Given the description of an element on the screen output the (x, y) to click on. 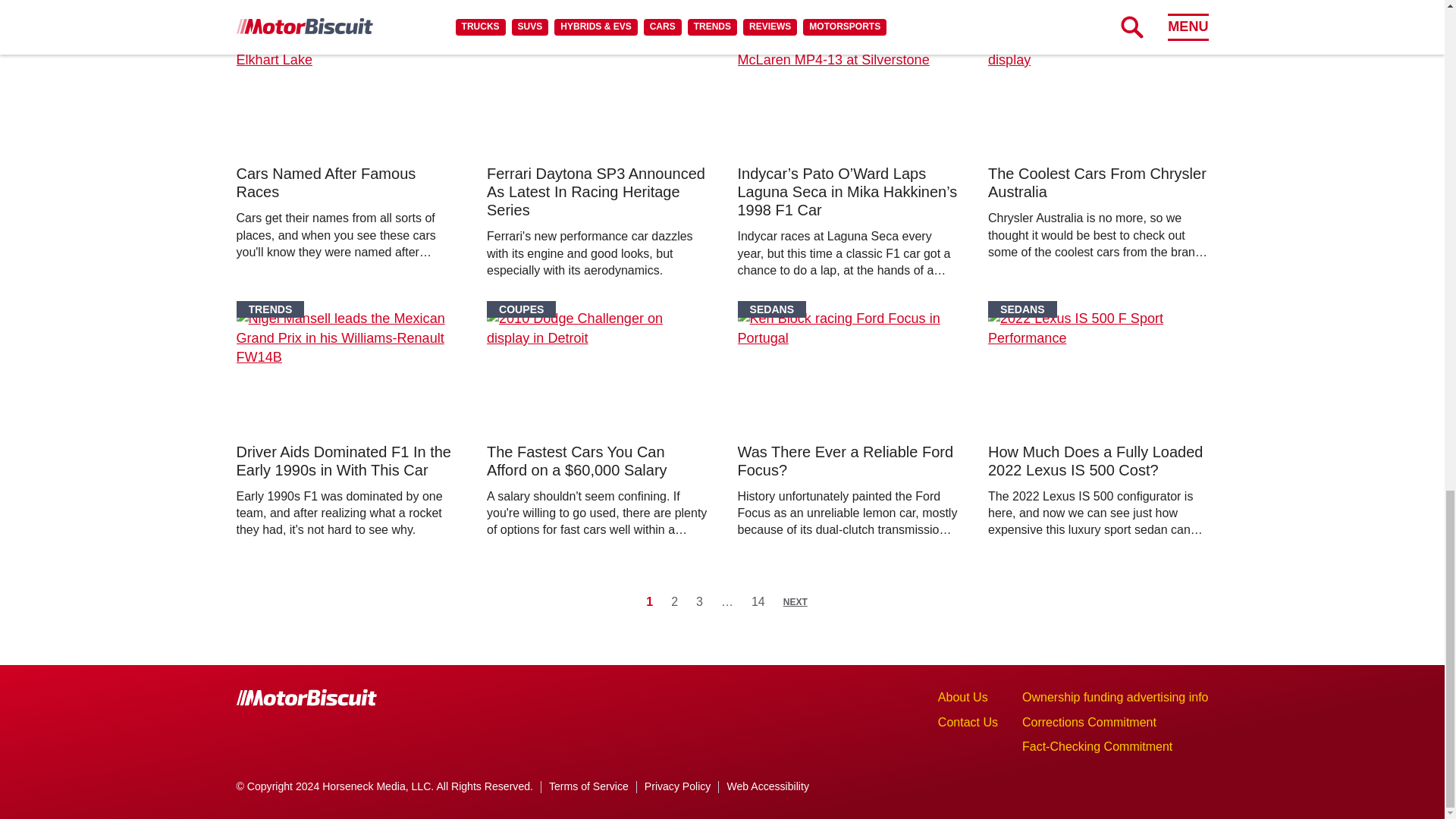
Coupes (521, 31)
Coupes (270, 31)
Trends (269, 309)
Sedans (1022, 31)
Trends (770, 31)
